Given the description of an element on the screen output the (x, y) to click on. 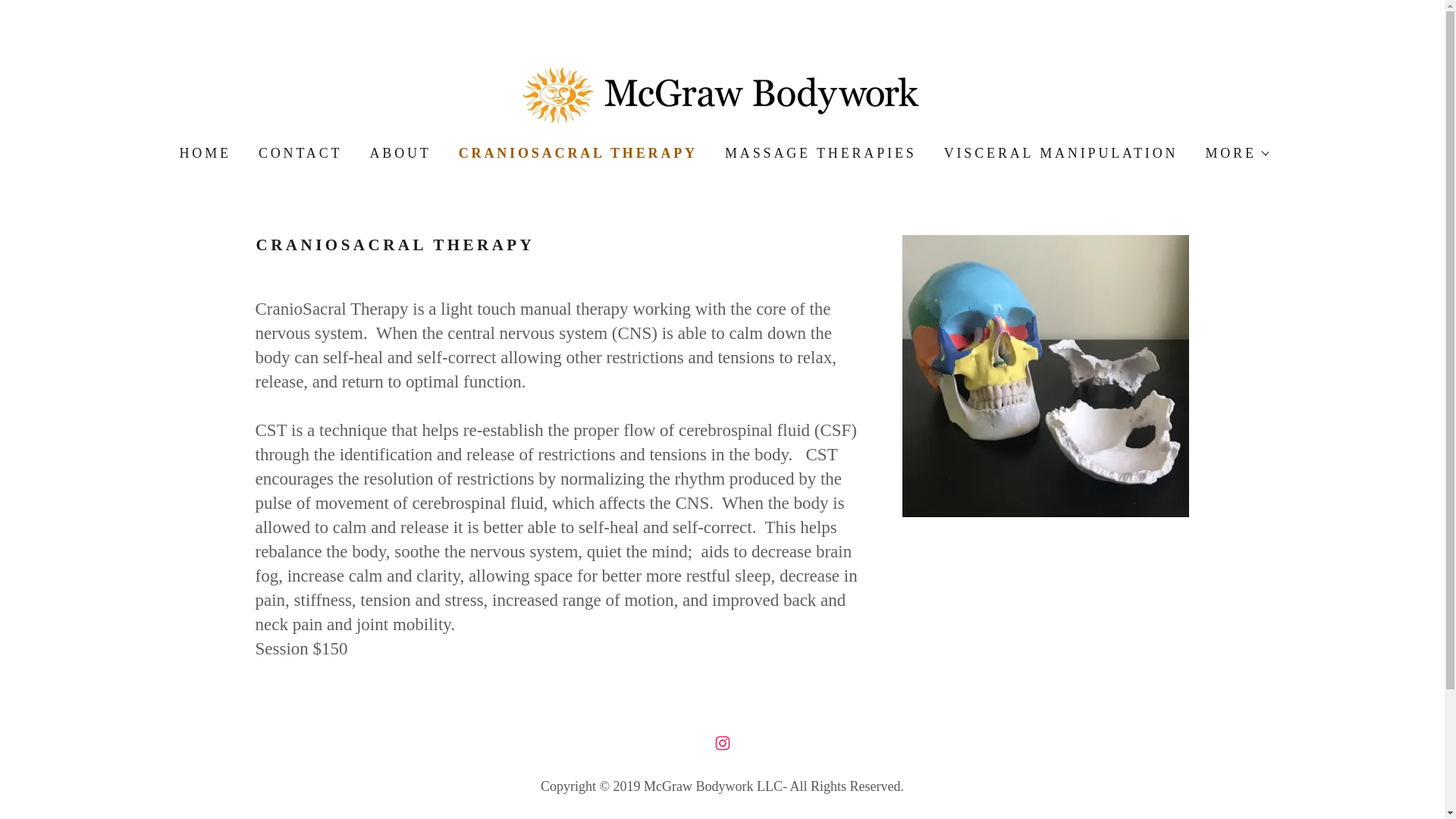
MORE (1236, 153)
MASSAGE THERAPIES (720, 816)
CRANIOSACRAL THERAPY (576, 153)
CONTACT (298, 153)
McGraw Bodywork (721, 94)
VISCERAL MANIPULATION (1059, 153)
VISCERAL MANIPULATION (945, 816)
CRANIOSACRAL THERAPY (496, 816)
ABOUT (398, 153)
MASSAGE THERAPIES (819, 153)
